Given the description of an element on the screen output the (x, y) to click on. 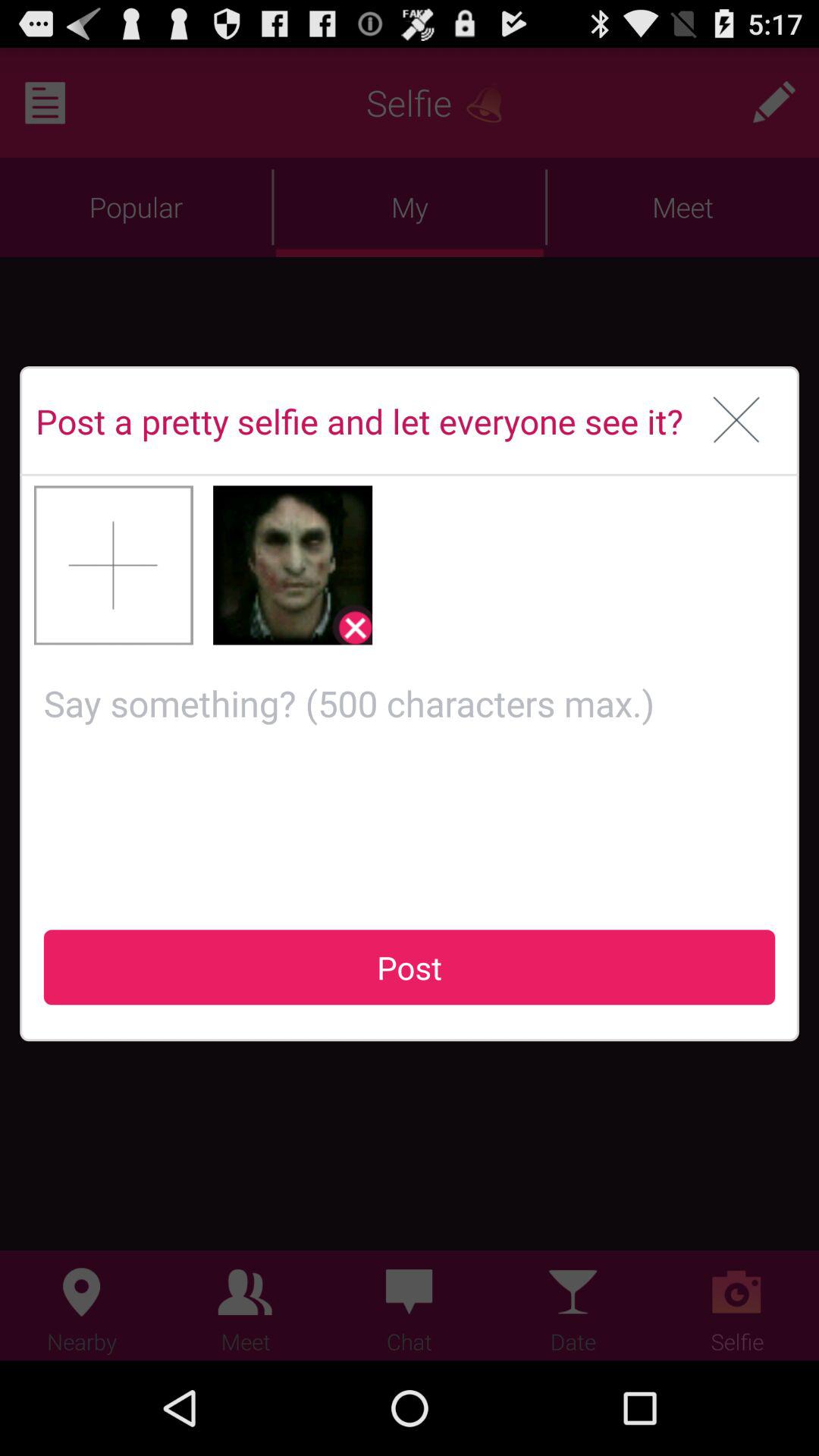
next picture (113, 564)
